Given the description of an element on the screen output the (x, y) to click on. 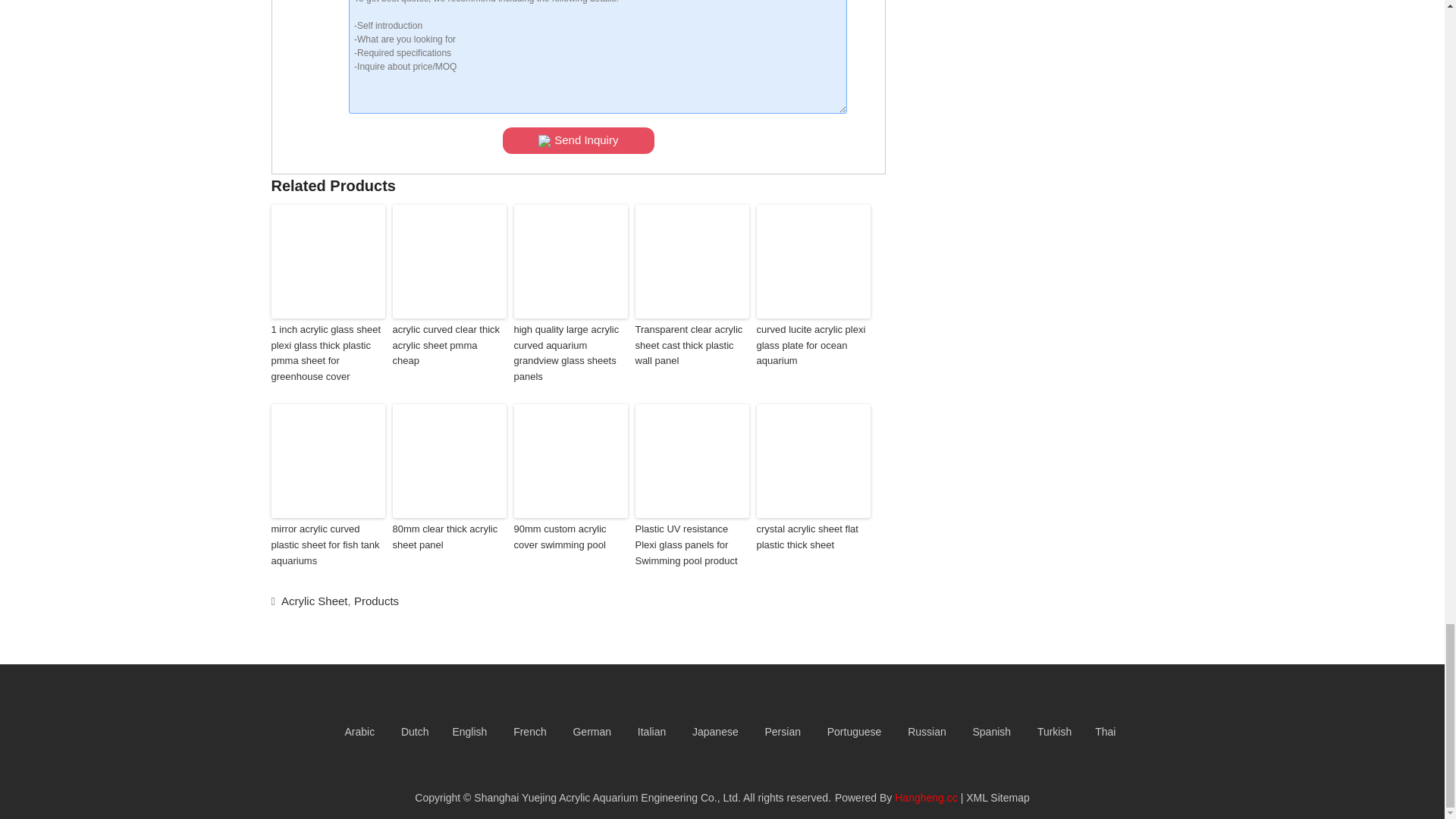
English (462, 731)
Russian (918, 731)
Italian (643, 731)
Arabic (351, 731)
Japanese (707, 731)
Thai (1097, 731)
Persian (775, 731)
German (583, 731)
French (521, 731)
Turkish (1046, 731)
Dutch (406, 731)
Spanish (983, 731)
Portuguese (846, 731)
